Given the description of an element on the screen output the (x, y) to click on. 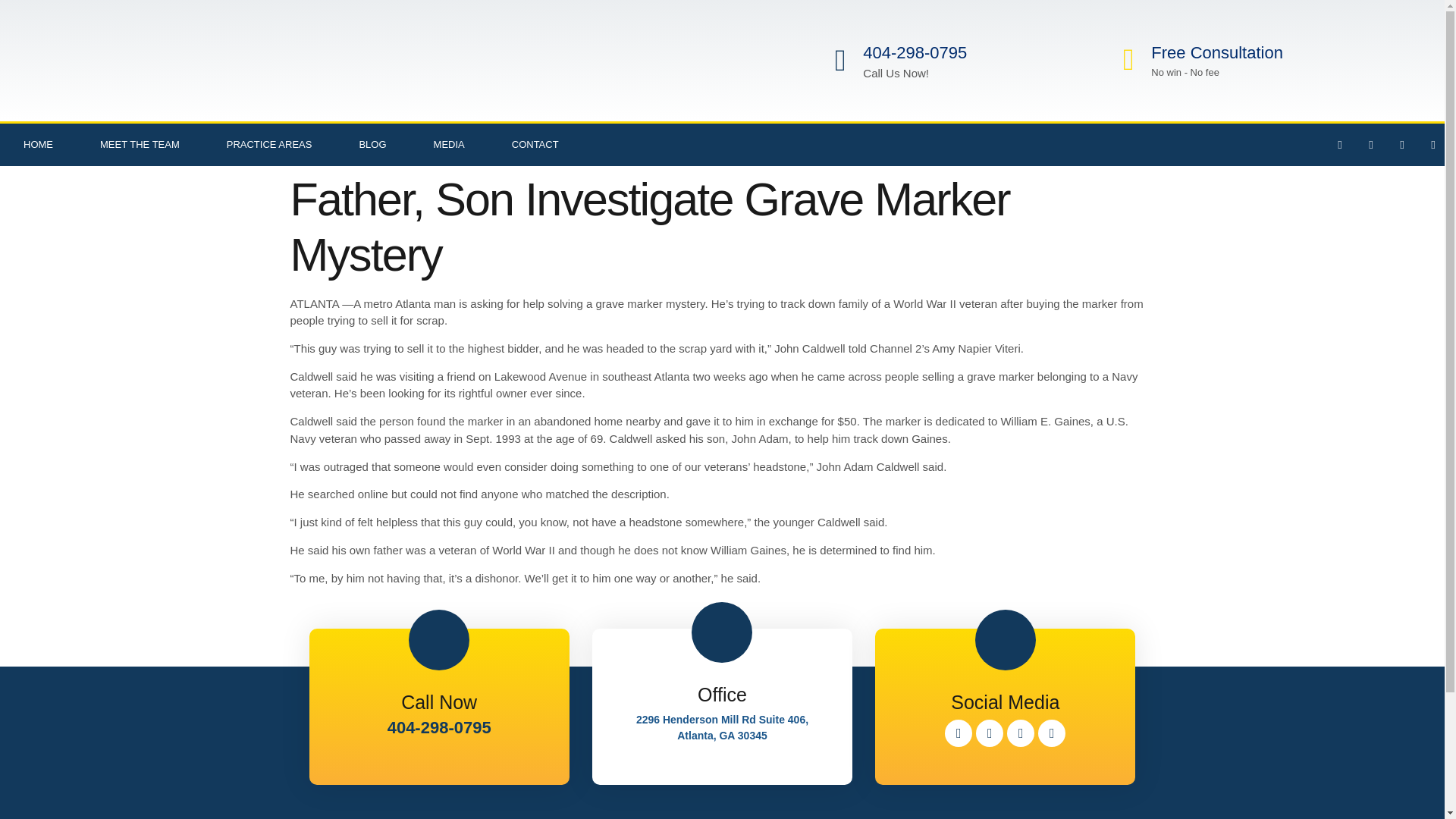
HOME (38, 144)
PRACTICE AREAS (269, 144)
Free Consultation (1216, 52)
BLOG (371, 144)
CONTACT (534, 144)
MEDIA (448, 144)
MEET THE TEAM (140, 144)
404-298-0795 (914, 52)
